Given the description of an element on the screen output the (x, y) to click on. 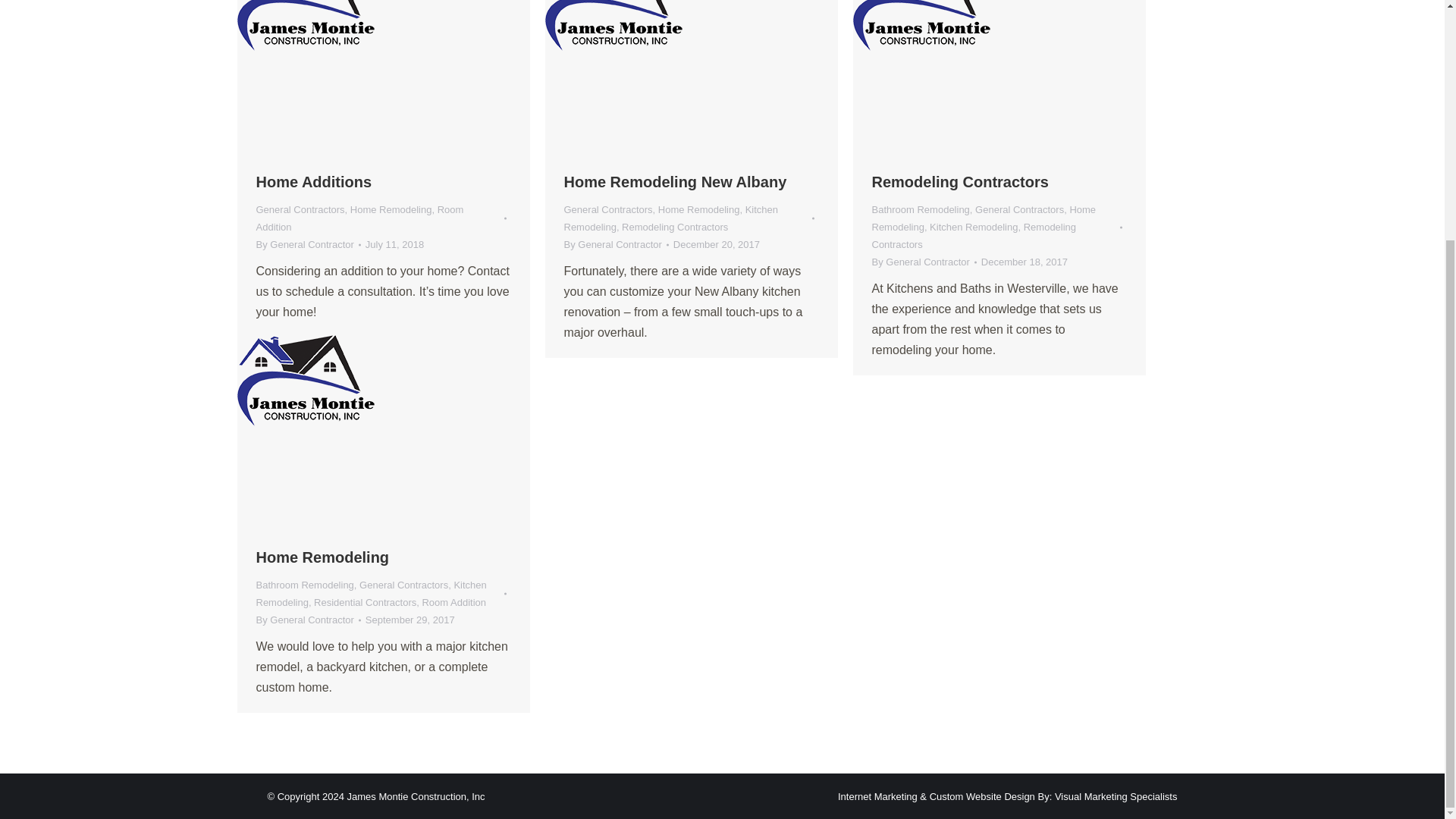
Home Additions (314, 181)
Site logo (304, 25)
View all posts by General Contractor (308, 244)
Home Additions (314, 181)
